Given the description of an element on the screen output the (x, y) to click on. 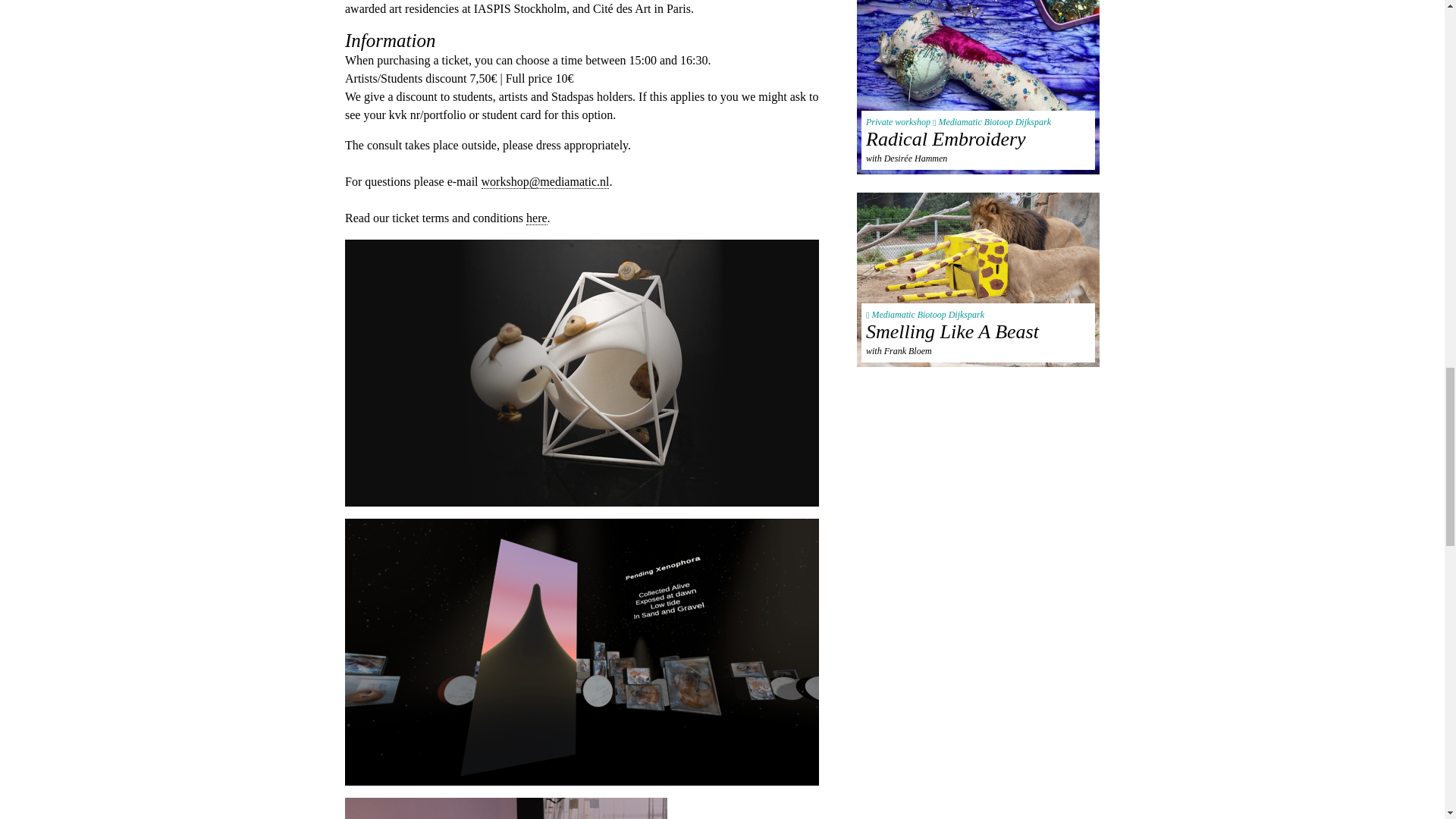
Mari Bastashevski. Garden snails, 2022.  (589, 372)
